Given the description of an element on the screen output the (x, y) to click on. 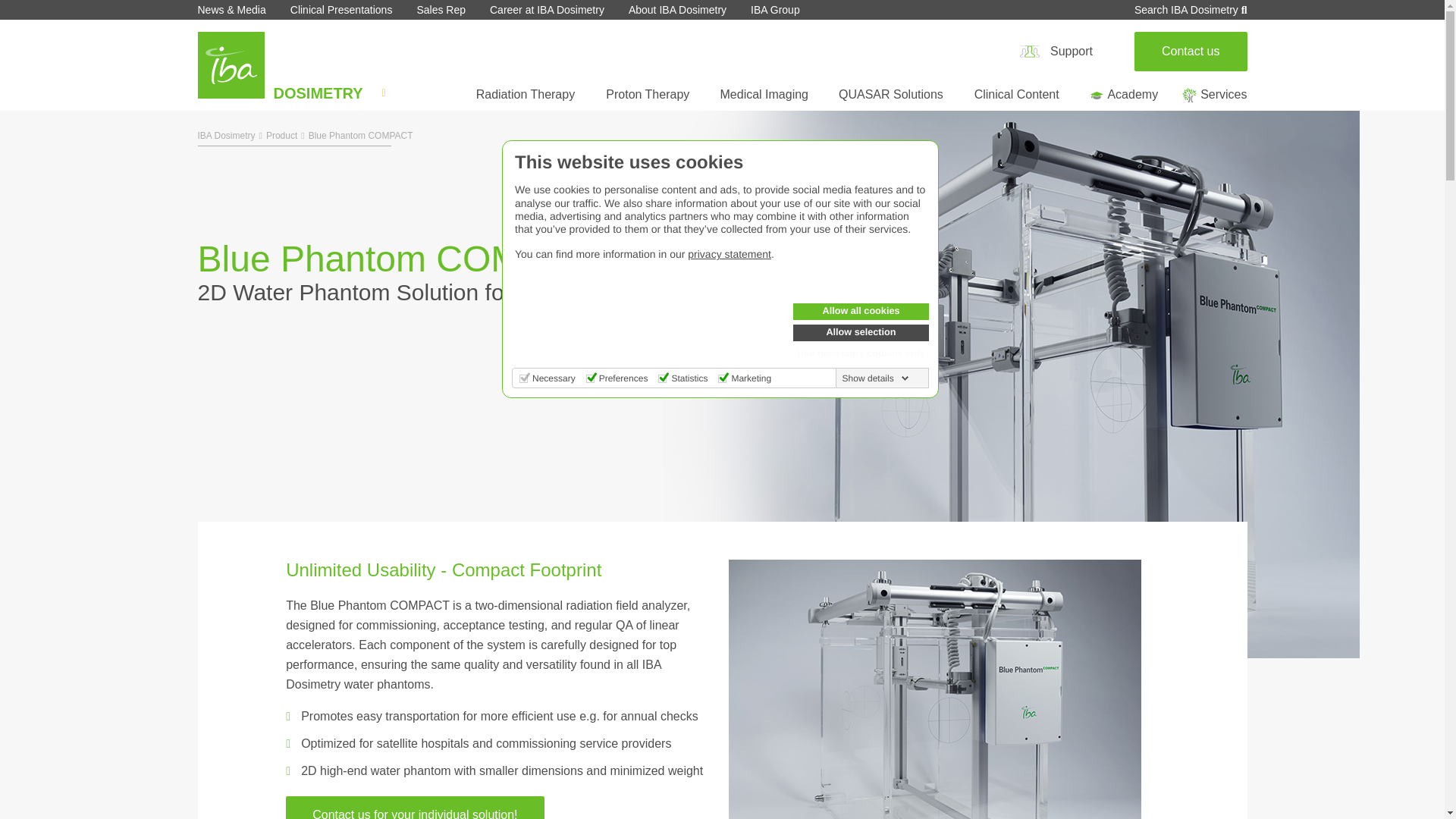
privacy statement (729, 254)
Allow selection (860, 332)
Allow all cookies (860, 311)
Show details (876, 378)
Use necessary cookies only (860, 353)
